Given the description of an element on the screen output the (x, y) to click on. 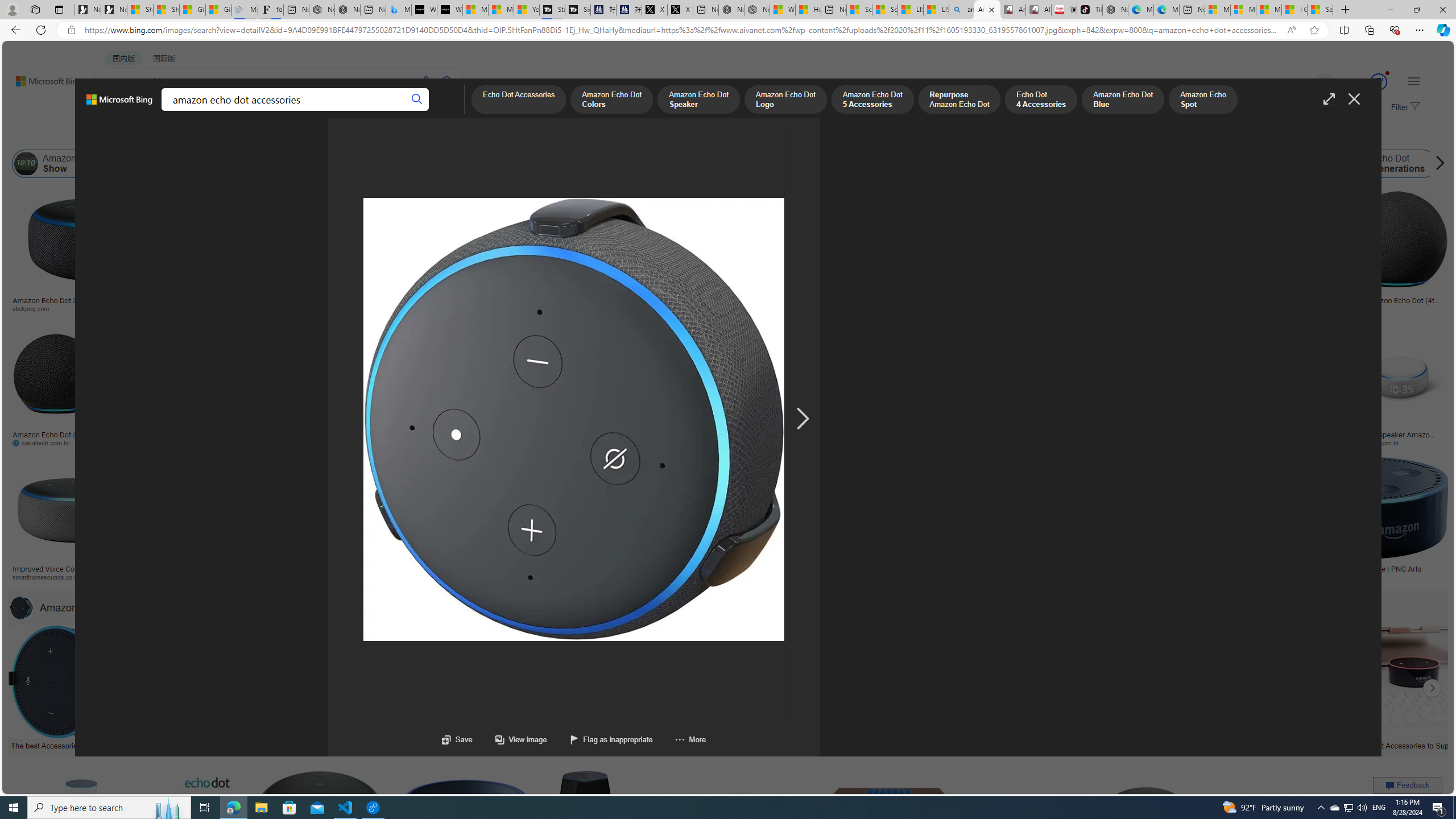
Amazon Echo Dot with Clock (490, 163)
Image size (126, 135)
Amazonecho Dot With Alexa (Gen 4) (1203, 568)
Amazon Echo Dot Colors (611, 100)
energyearth.com (775, 576)
Alexa Dot Transparent Image | PNG Artspngarts.comSave (1366, 521)
VIDEOS (260, 111)
